Given the description of an element on the screen output the (x, y) to click on. 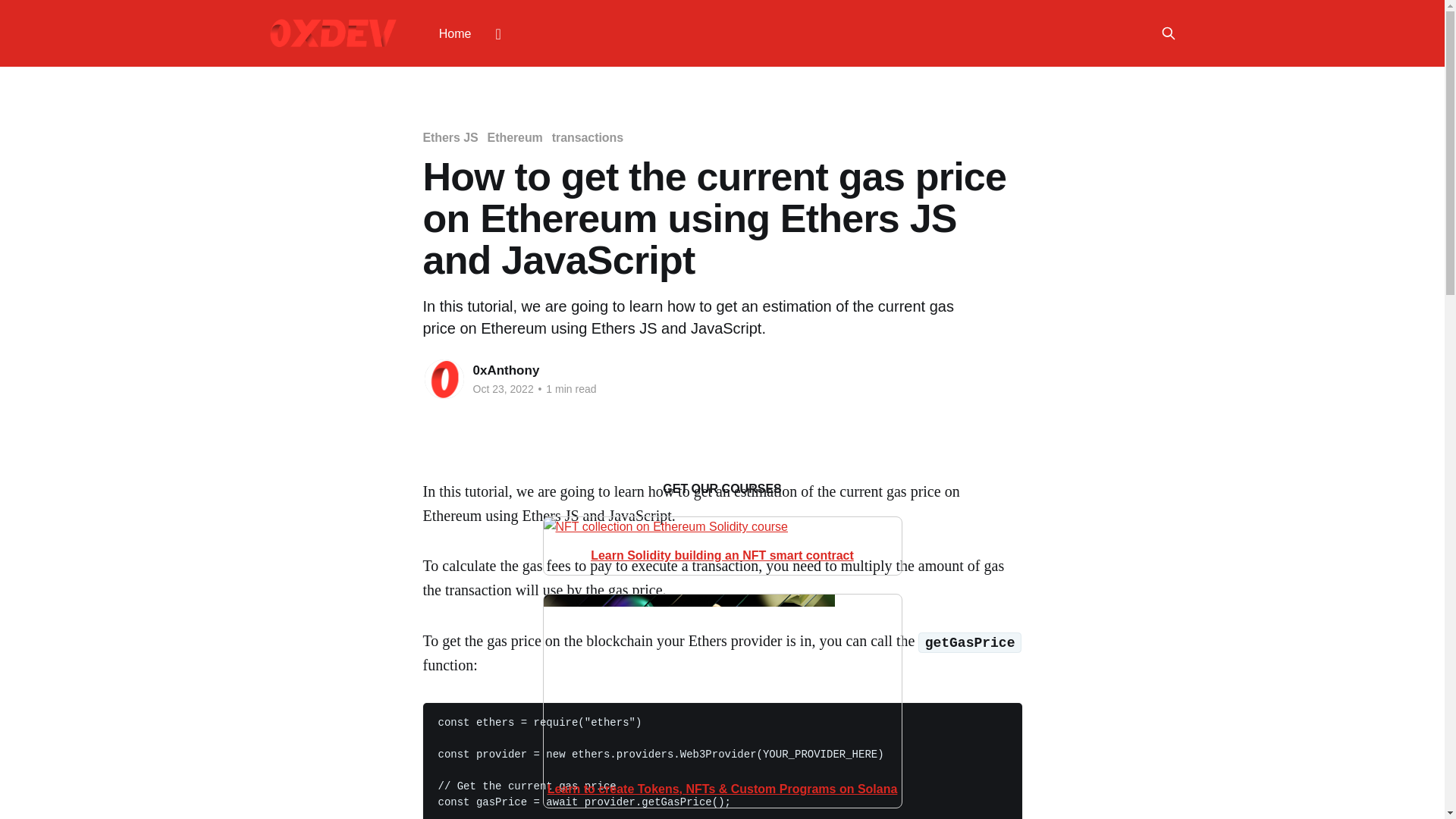
0xAnthony (506, 370)
transactions (587, 137)
Ethereum (515, 137)
Learn Solidity building an NFT smart contract (722, 540)
Ethers JS (451, 137)
Home (455, 33)
